Given the description of an element on the screen output the (x, y) to click on. 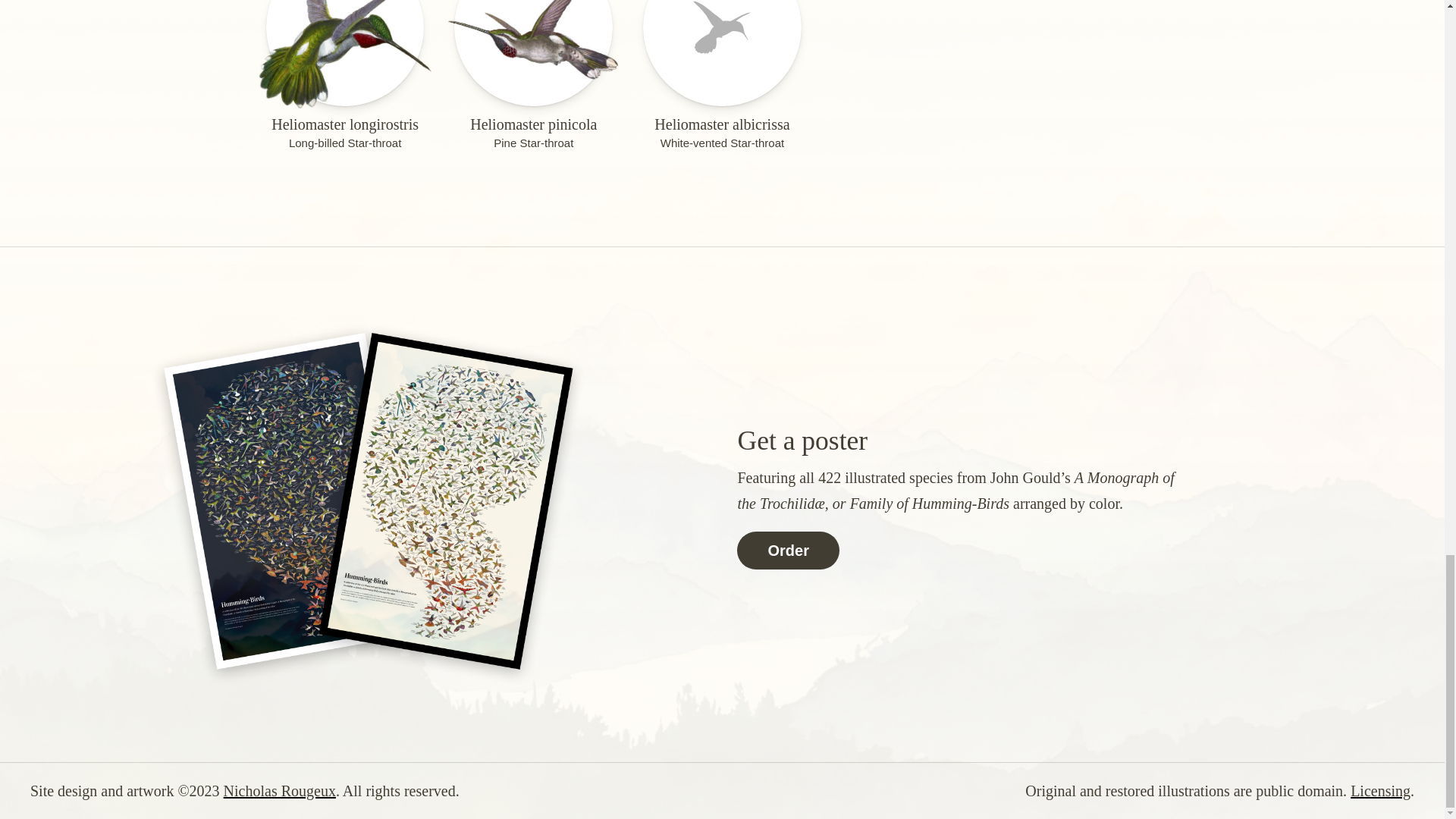
Order (787, 550)
Licensing (533, 75)
Nicholas Rougeux (1380, 790)
